Given the description of an element on the screen output the (x, y) to click on. 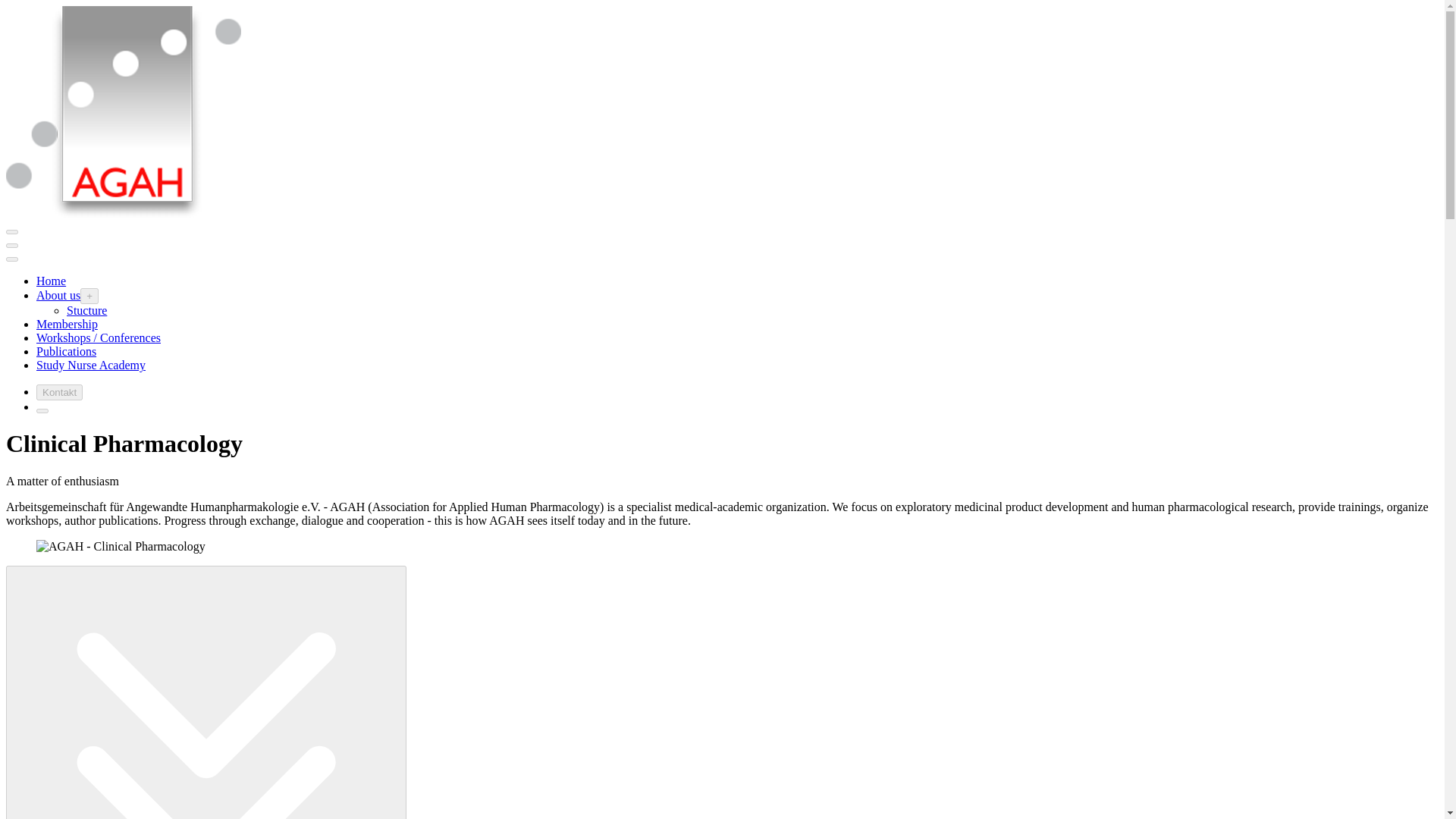
AGAH - Clinical Pharmacology (120, 546)
Publications (66, 350)
Back to AGAH homepage (126, 214)
Kontakt (59, 392)
Membership (66, 323)
Study Nurse Academy (90, 364)
About us (58, 295)
Stucture (86, 309)
Home (50, 280)
